Given the description of an element on the screen output the (x, y) to click on. 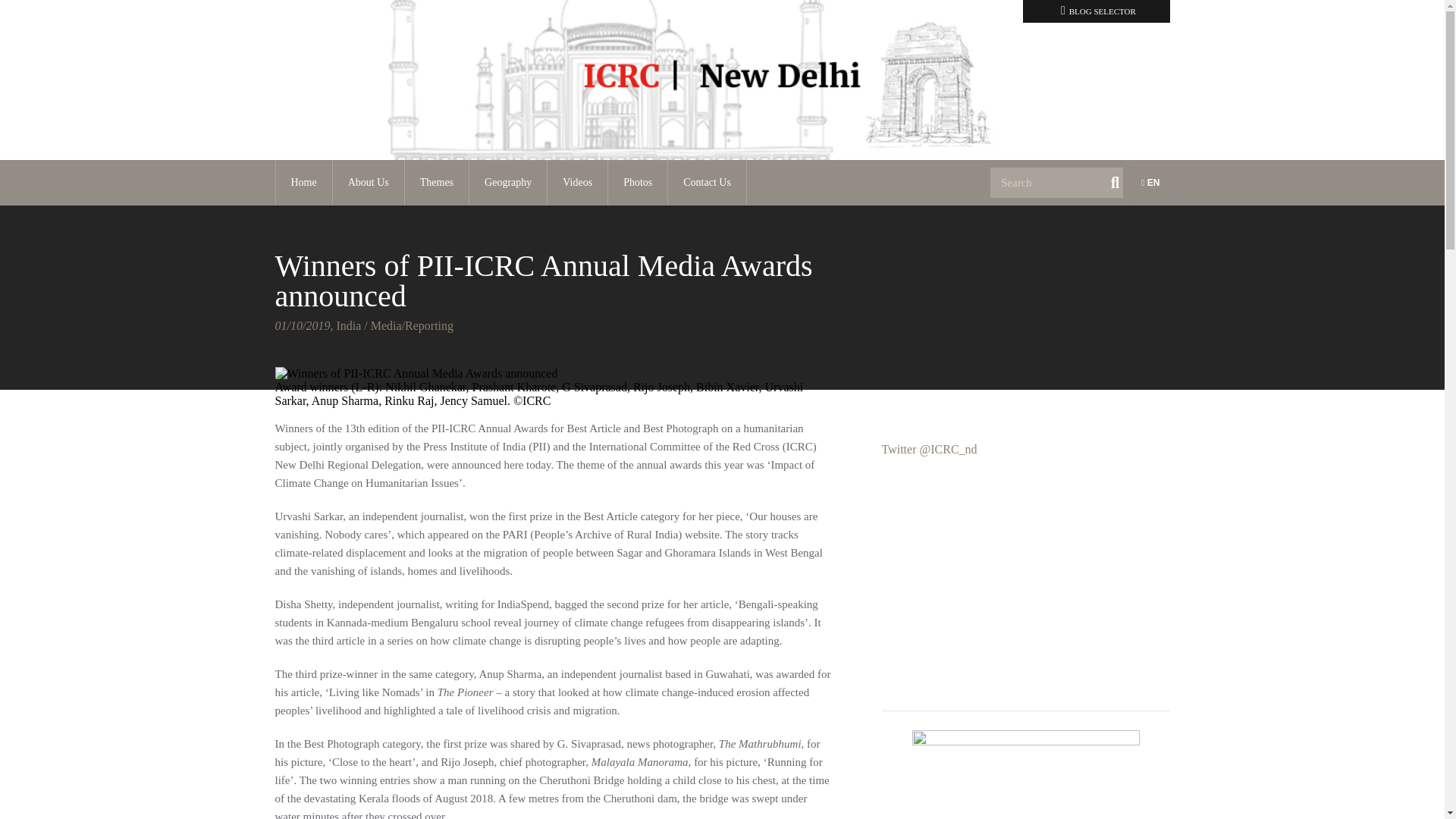
Videos (577, 182)
Contact Us (706, 182)
Themes (436, 182)
Home (303, 182)
Geography (507, 182)
About Us (368, 182)
Photos (637, 182)
